Given the description of an element on the screen output the (x, y) to click on. 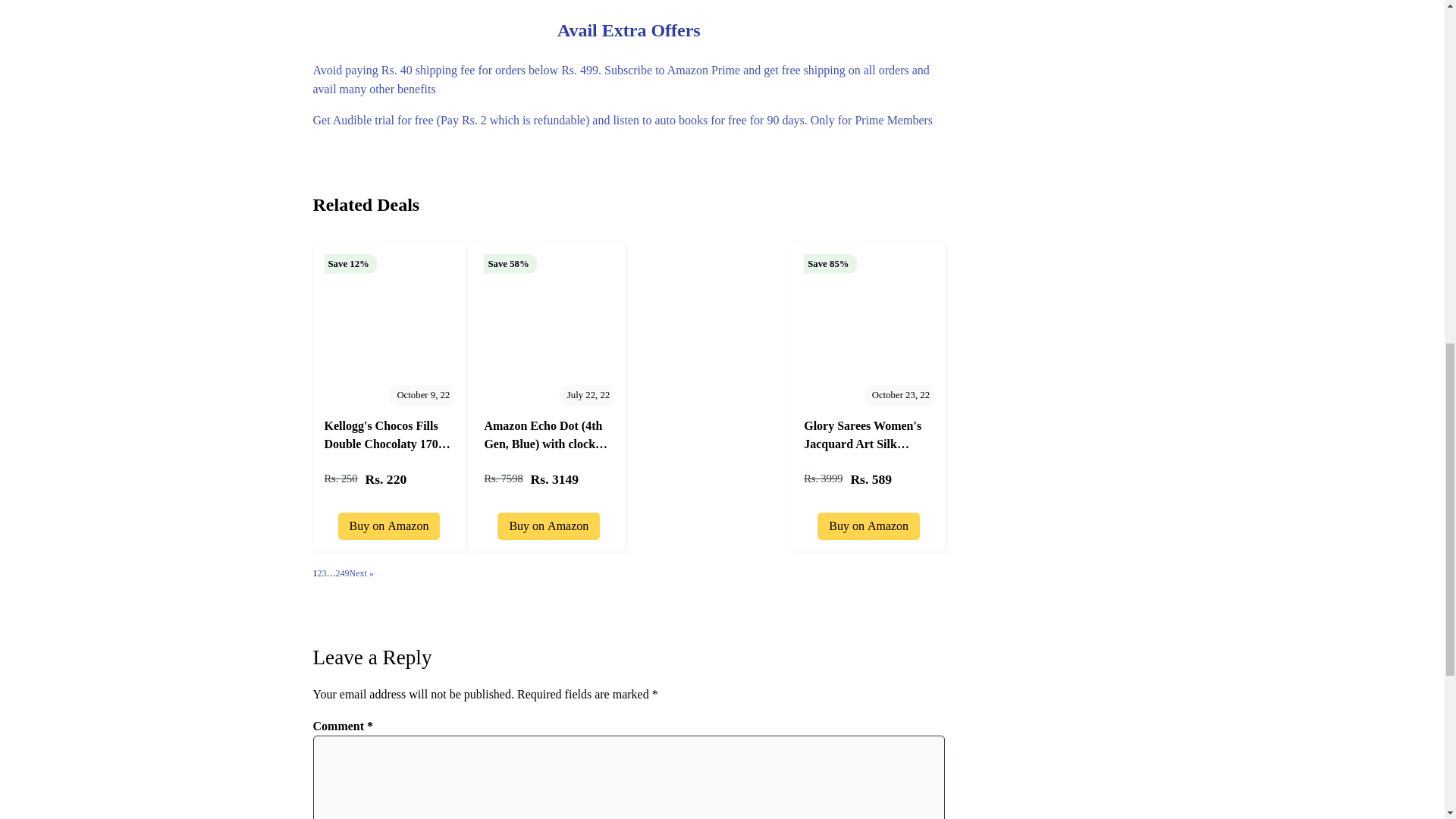
249 (341, 573)
Buy on Amazon (389, 522)
Buy on Amazon (868, 522)
Buy on Amazon (548, 522)
